Given the description of an element on the screen output the (x, y) to click on. 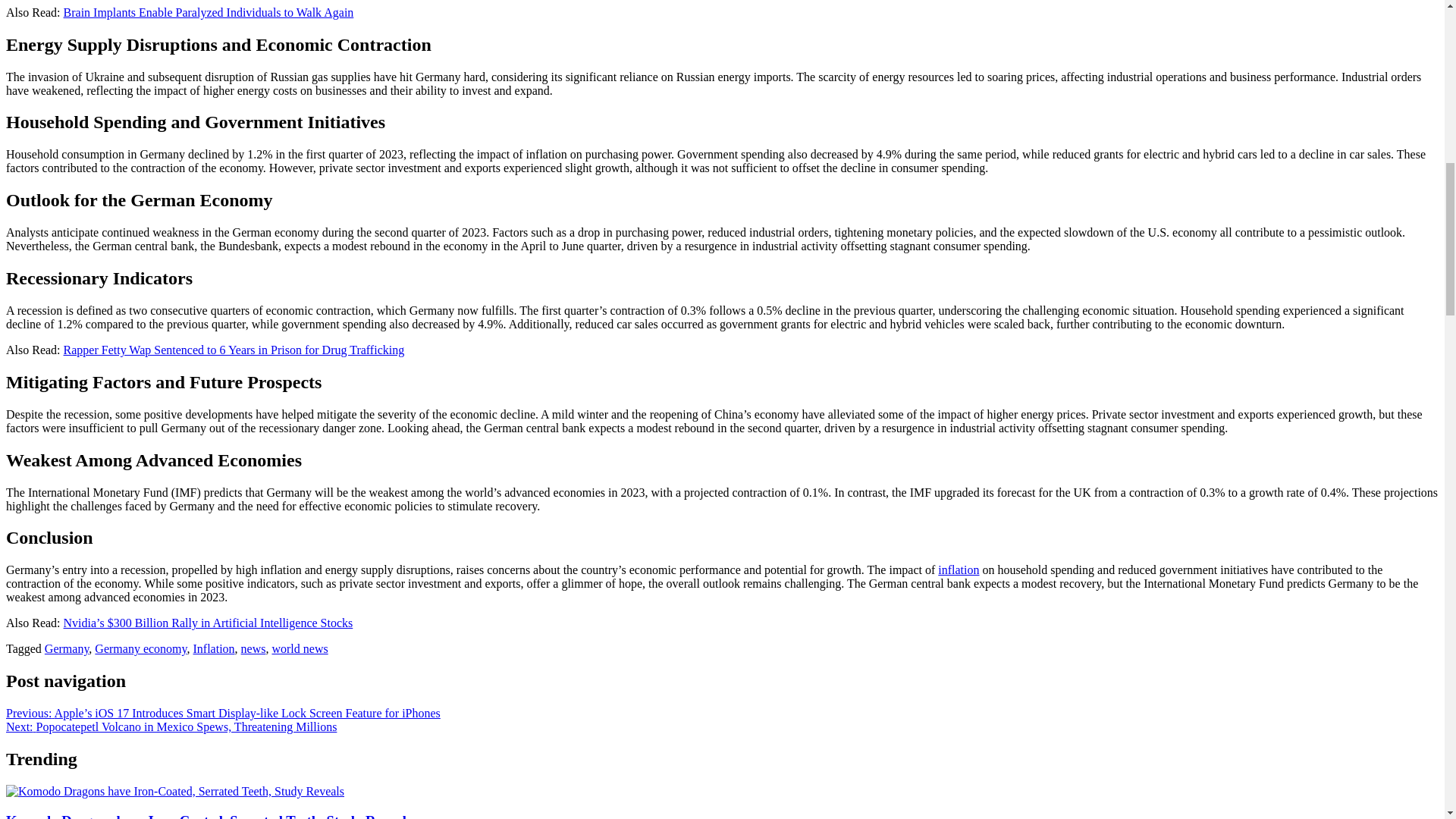
inflation (957, 569)
Germany (66, 648)
Germany economy (140, 648)
Brain Implants Enable Paralyzed Individuals to Walk Again (208, 11)
Inflation (213, 648)
